Given the description of an element on the screen output the (x, y) to click on. 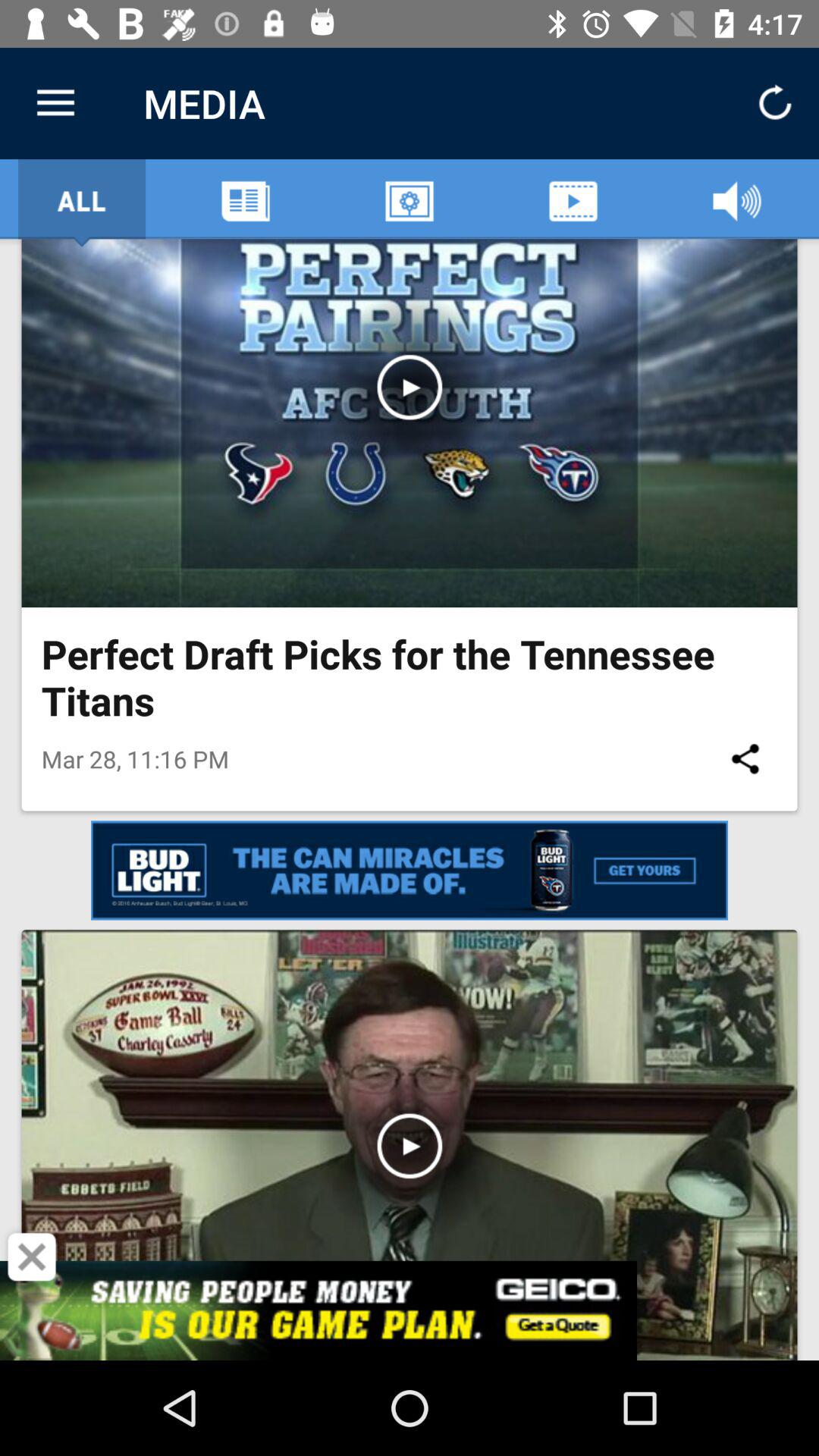
select the icon next to the media (55, 103)
